Given the description of an element on the screen output the (x, y) to click on. 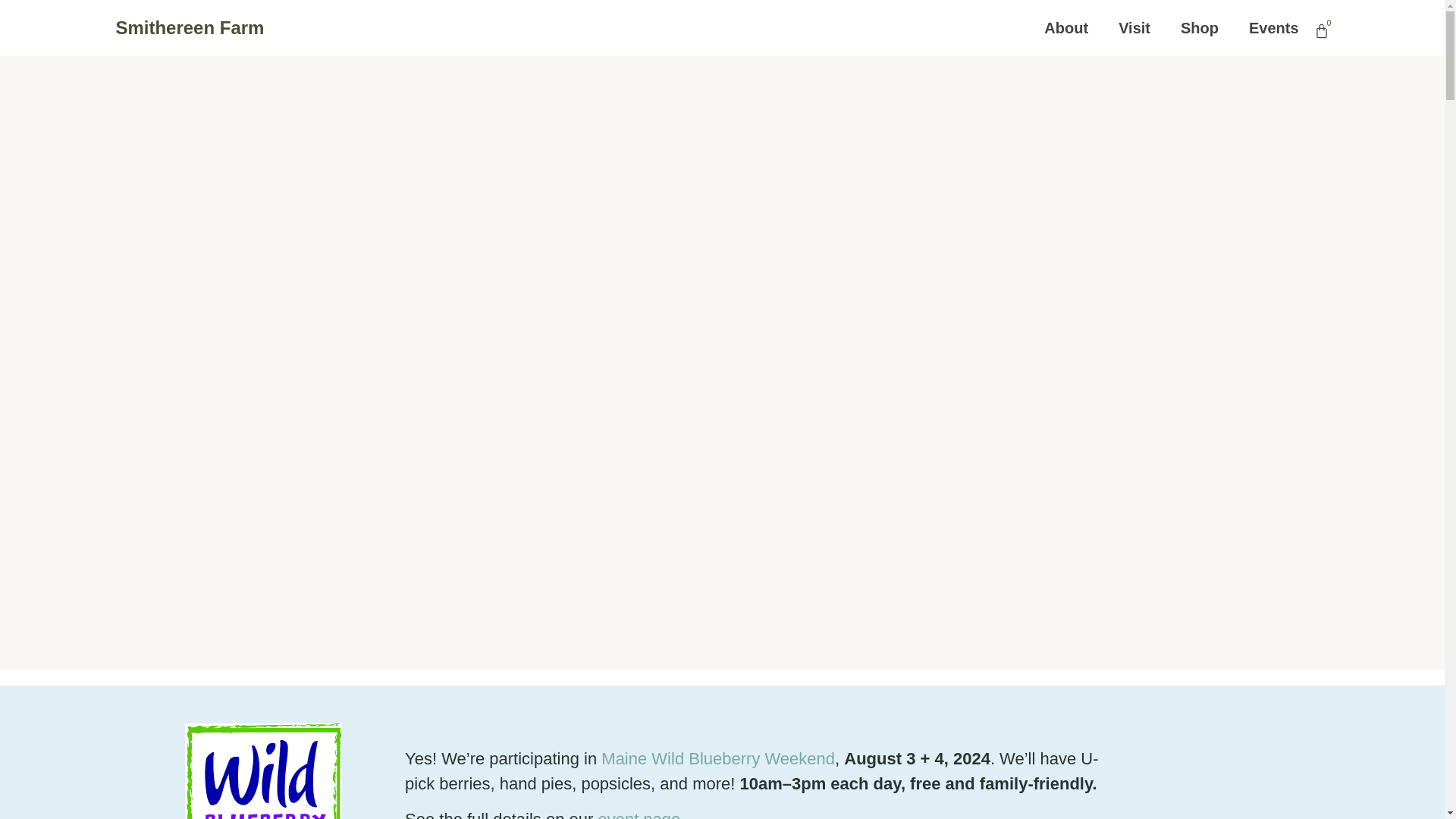
Visit (1134, 27)
Maine Wild Blueberry Weekend (717, 758)
Shop (1199, 27)
About (1065, 27)
Smithereen Farm (189, 27)
event page (637, 814)
Events (1273, 27)
